Given the description of an element on the screen output the (x, y) to click on. 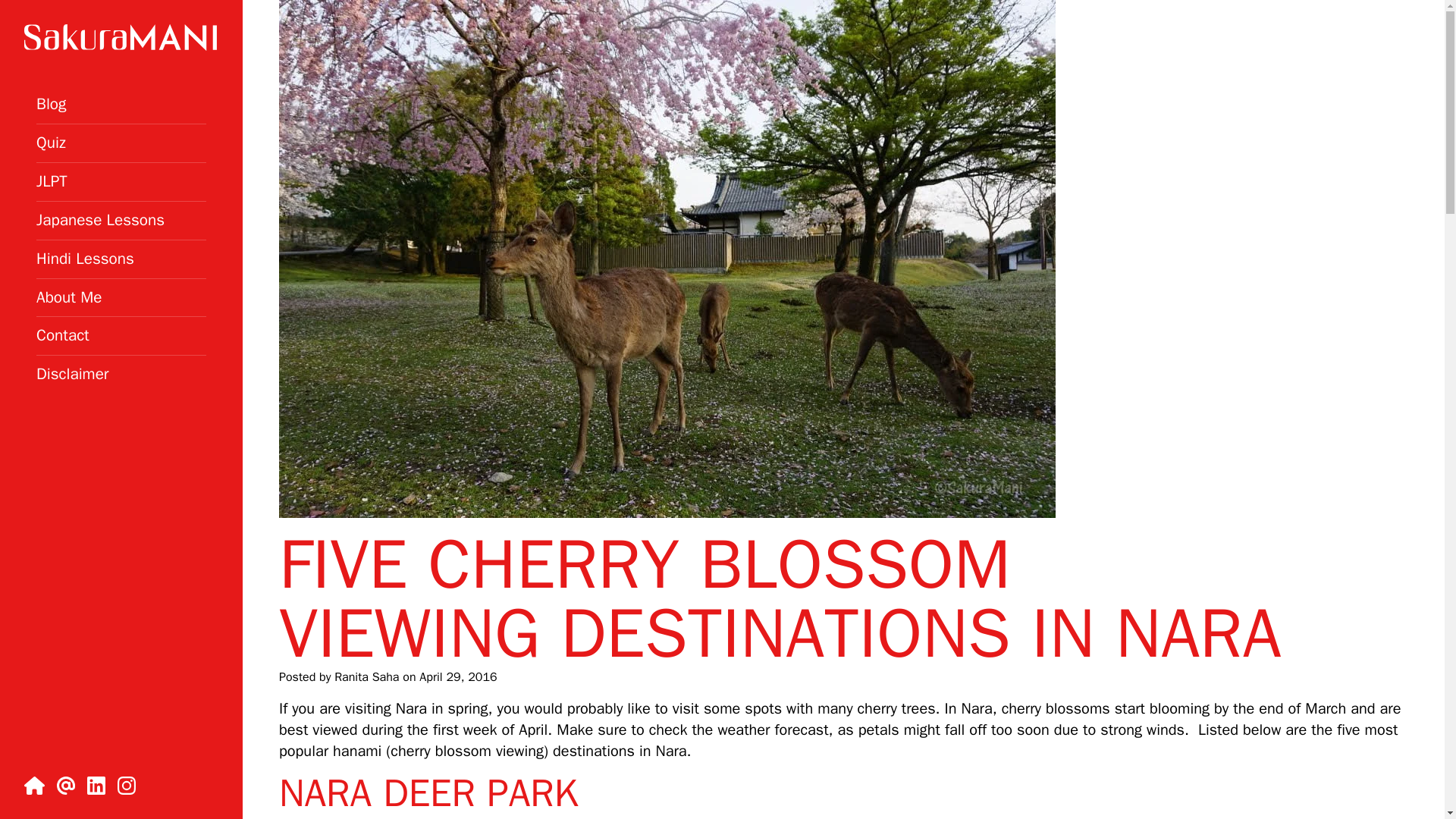
Blog (50, 103)
Hindi Lessons (84, 258)
Disclaimer (72, 373)
Japanese Lessons (100, 219)
Contact (62, 334)
JLPT (51, 180)
Quiz (50, 142)
About Me (68, 296)
